Given the description of an element on the screen output the (x, y) to click on. 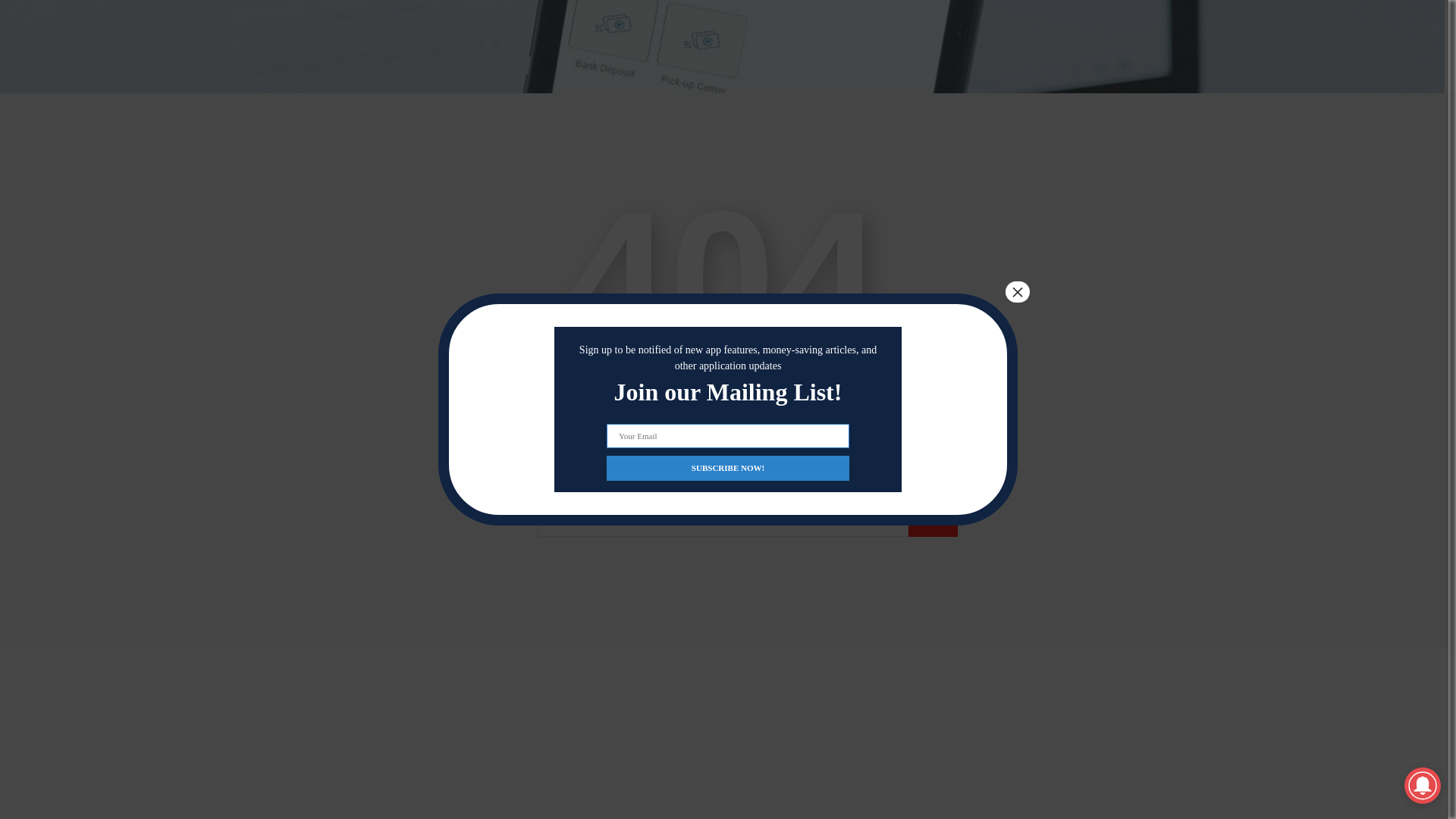
Search (933, 521)
VISIT HOMEPAGE (722, 422)
Search (933, 521)
SUBSCRIBE NOW! (727, 285)
SUBSCRIBE NOW! (727, 285)
Search (933, 521)
